Given the description of an element on the screen output the (x, y) to click on. 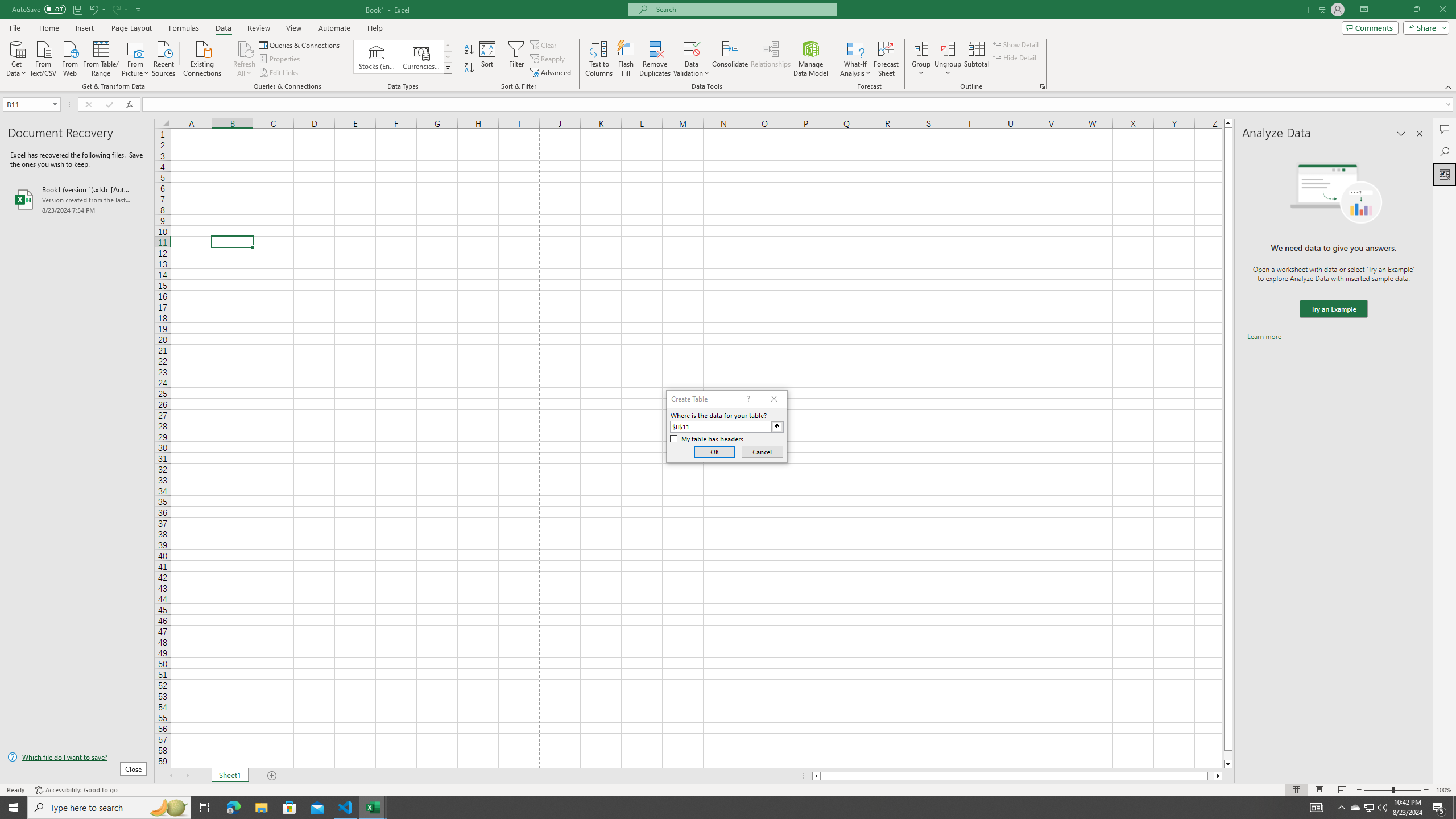
Minimize (1390, 9)
From Web (69, 57)
Scroll Right (187, 775)
Share (1423, 27)
Sheet1 (229, 775)
Insert (83, 28)
Automate (334, 28)
Relationships (770, 58)
Comments (1369, 27)
Group... (921, 58)
Column left (815, 775)
From Picture (135, 57)
